Given the description of an element on the screen output the (x, y) to click on. 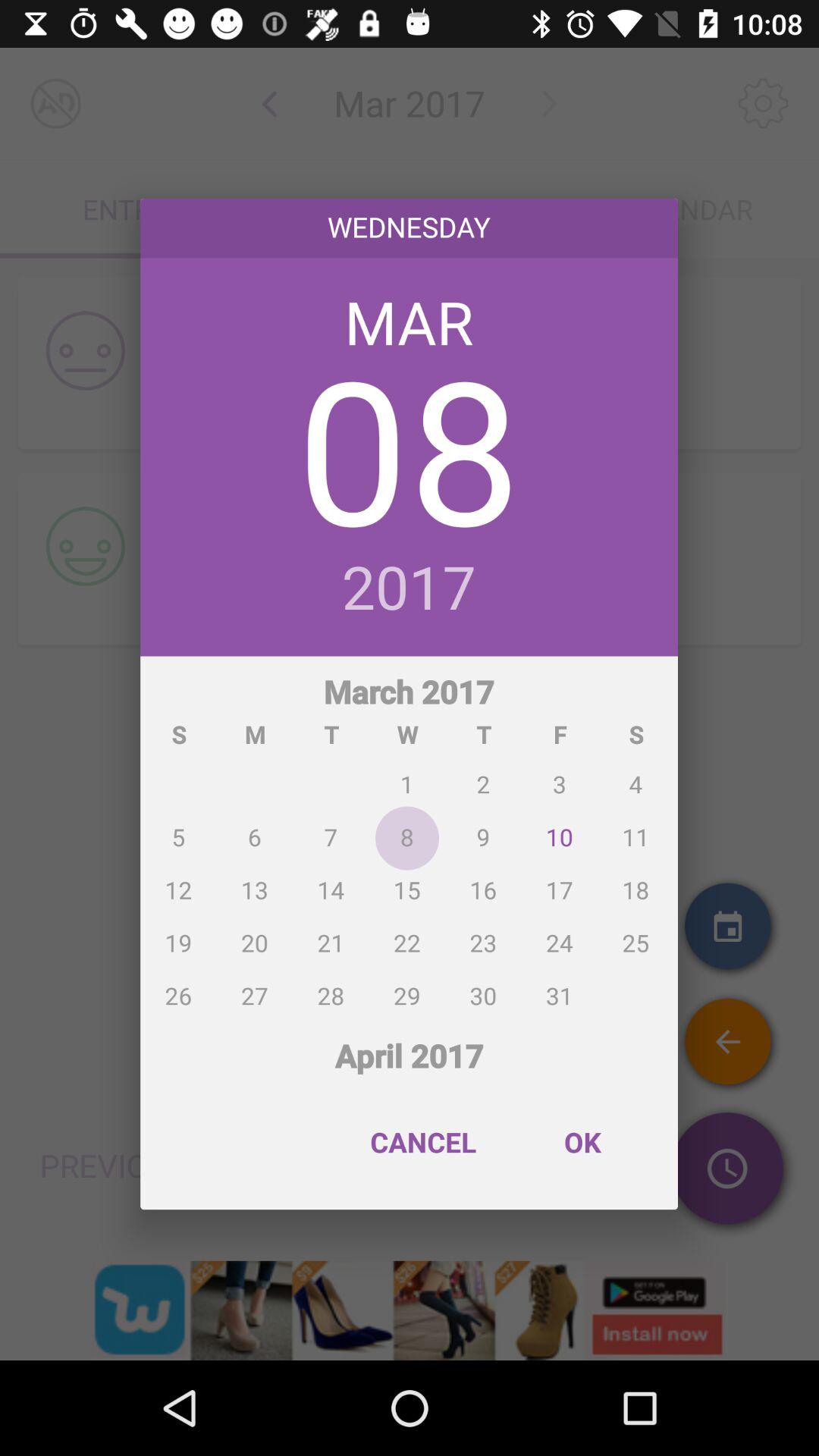
turn off the icon below the 2017 (408, 838)
